Given the description of an element on the screen output the (x, y) to click on. 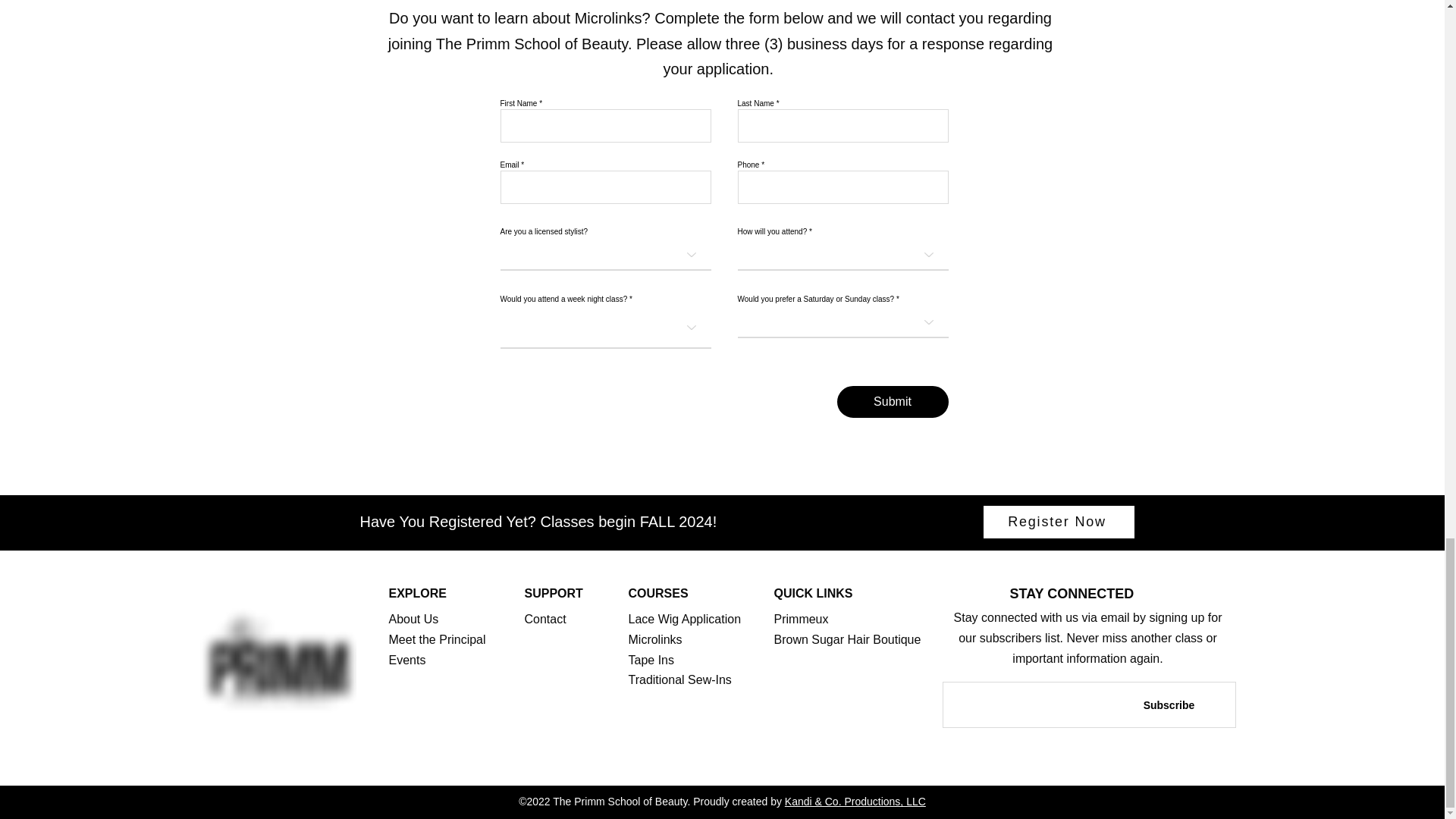
Traditional Sew-Ins (678, 679)
Subscribe (1169, 705)
Primmeux (800, 618)
Microlinks (654, 639)
About Us  (414, 618)
Meet the Principal (436, 639)
Tape Ins (649, 659)
Submit (893, 401)
Register Now (1058, 522)
